Given the description of an element on the screen output the (x, y) to click on. 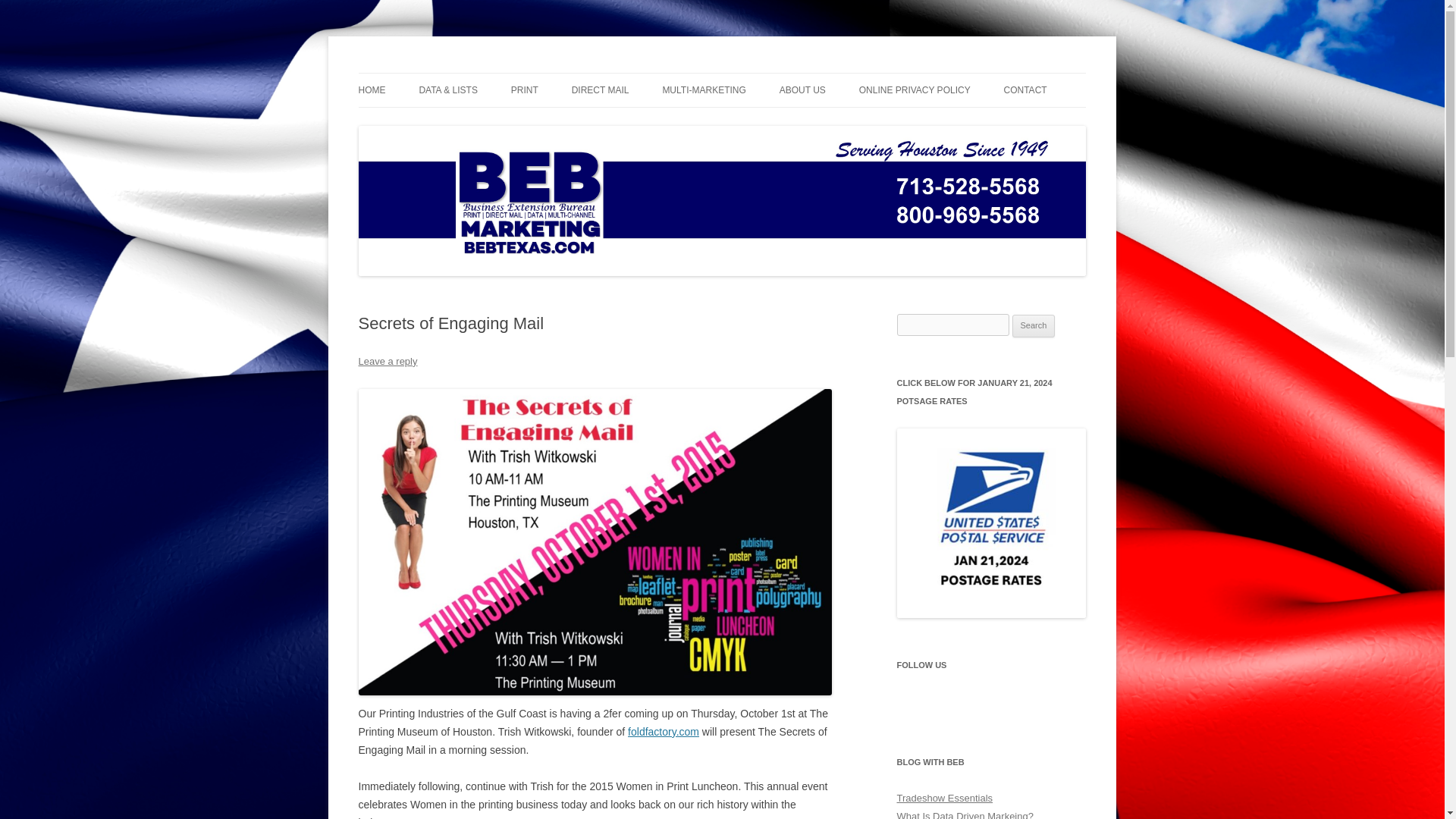
ABOUT US (801, 90)
ONLINE PRIVACY POLICY (915, 90)
Leave a reply (387, 360)
CONTACT (1025, 90)
foldfactory.com (662, 731)
Search (1033, 325)
BEBTEXAS (411, 72)
DIRECT MAIL MARKETING (737, 122)
DIRECT MAIL (600, 90)
